Given the description of an element on the screen output the (x, y) to click on. 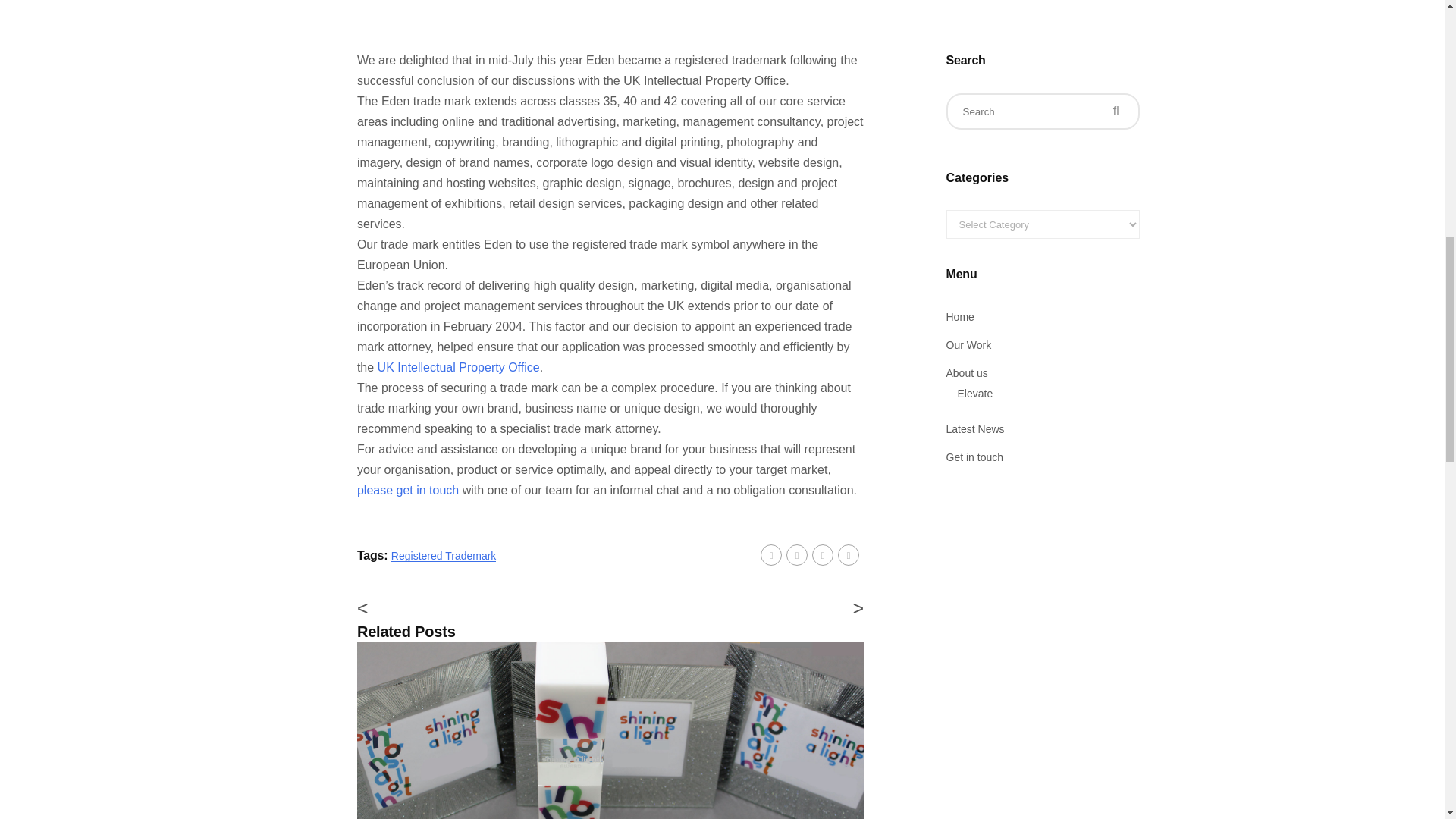
Registered Trademark (443, 555)
please get in touch (407, 490)
UK Intellectual Property Office (458, 367)
